Given the description of an element on the screen output the (x, y) to click on. 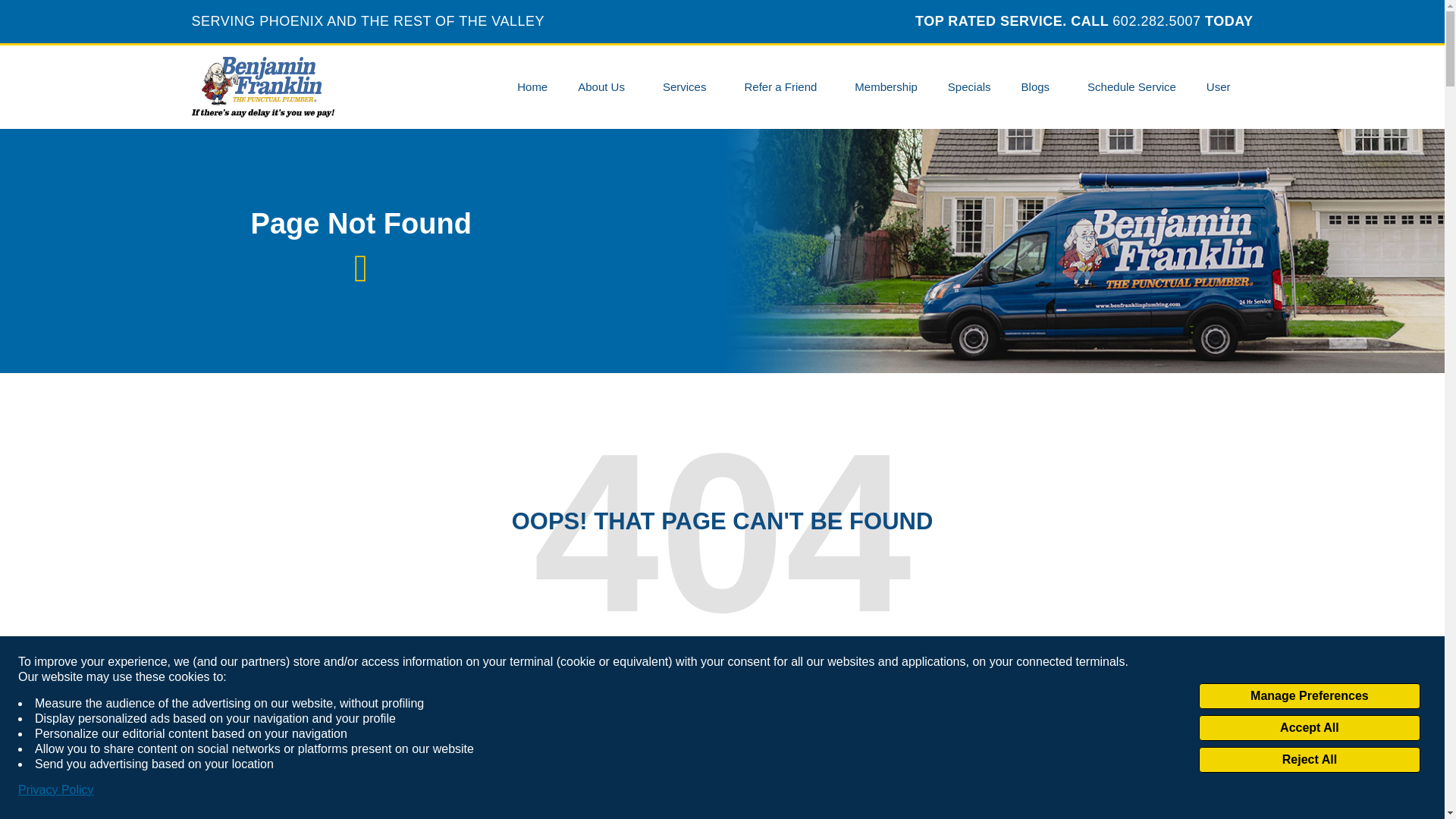
Privacy Policy (55, 789)
Manage Preferences (1309, 696)
Services (688, 86)
Home (532, 86)
About Us (604, 86)
602.282.5007 (1155, 20)
Accept All (1309, 727)
Reject All (1309, 759)
